Given the description of an element on the screen output the (x, y) to click on. 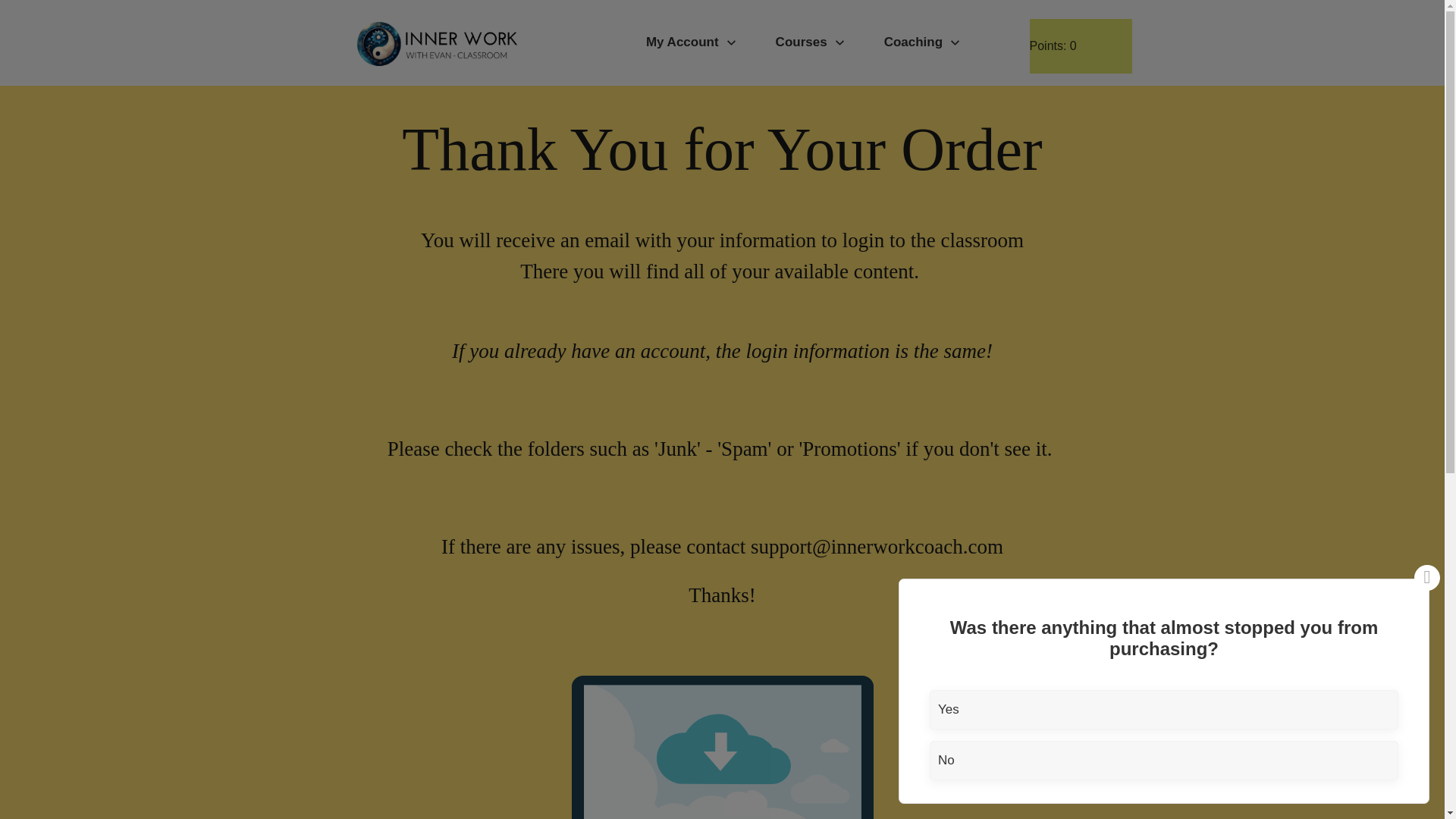
iw-with-evan-header-img (436, 43)
Coaching (921, 42)
Courses (810, 42)
flat-2-download-screen (722, 746)
My Account (692, 42)
